Given the description of an element on the screen output the (x, y) to click on. 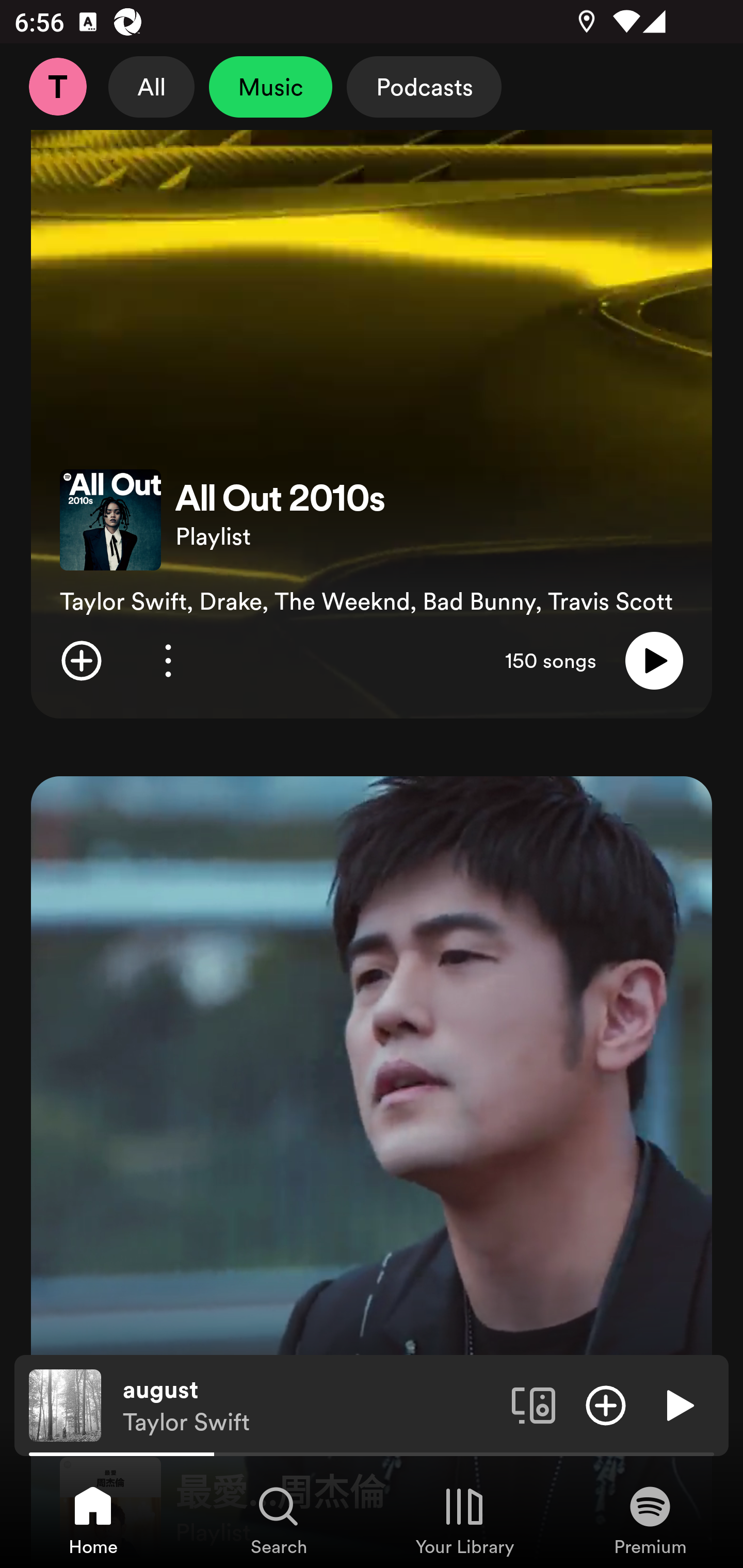
Profile (57, 86)
All Select All (151, 86)
Music Unselect Music (270, 86)
Podcasts Select Podcasts (423, 86)
Add item (80, 660)
Play (653, 660)
august Taylor Swift (309, 1405)
The cover art of the currently playing track (64, 1404)
Connect to a device. Opens the devices menu (533, 1404)
Add item (605, 1404)
Play (677, 1404)
Home, Tab 1 of 4 Home Home (92, 1519)
Search, Tab 2 of 4 Search Search (278, 1519)
Your Library, Tab 3 of 4 Your Library Your Library (464, 1519)
Premium, Tab 4 of 4 Premium Premium (650, 1519)
